Given the description of an element on the screen output the (x, y) to click on. 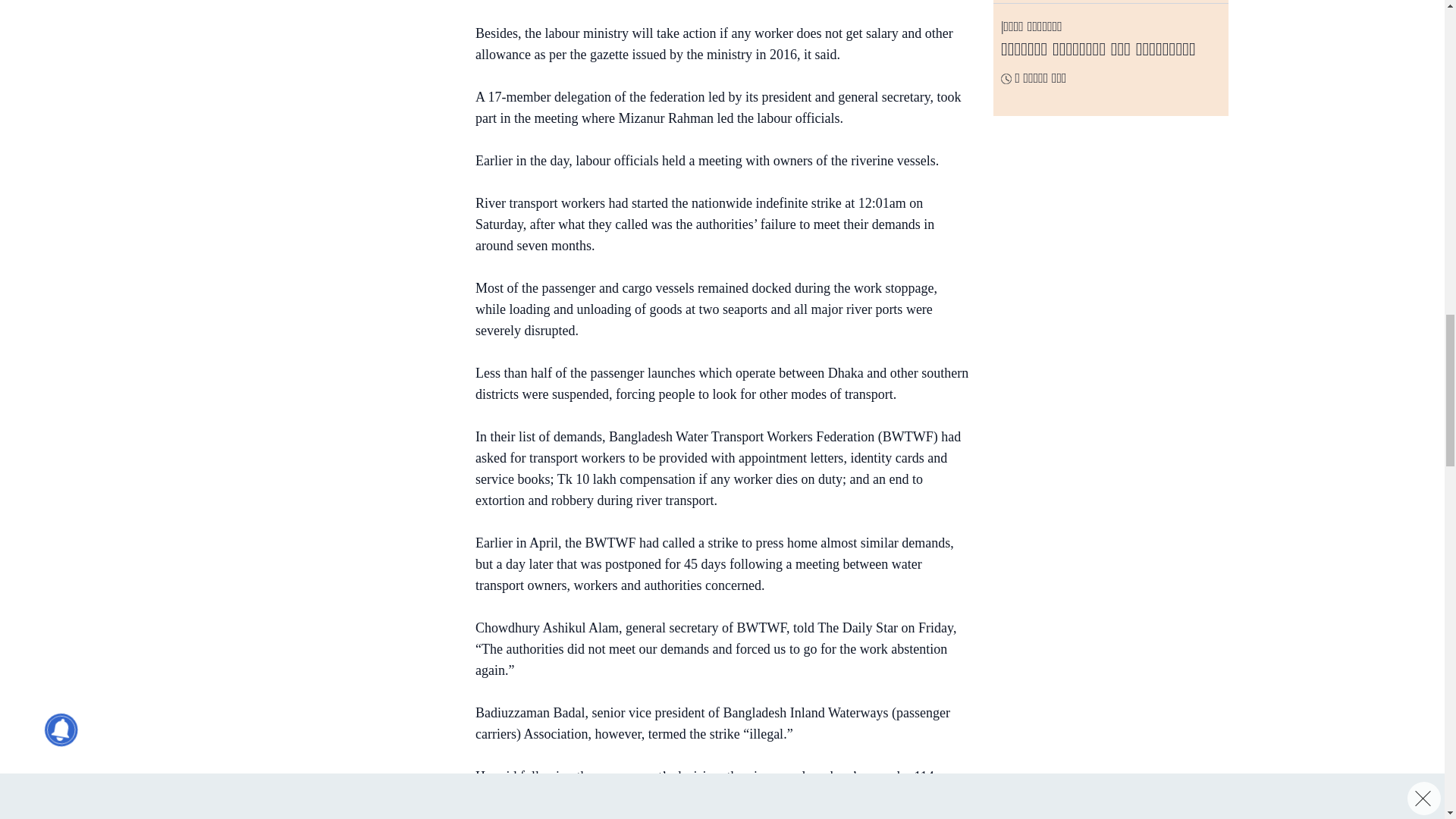
3rd party ad content (713, 3)
